Given the description of an element on the screen output the (x, y) to click on. 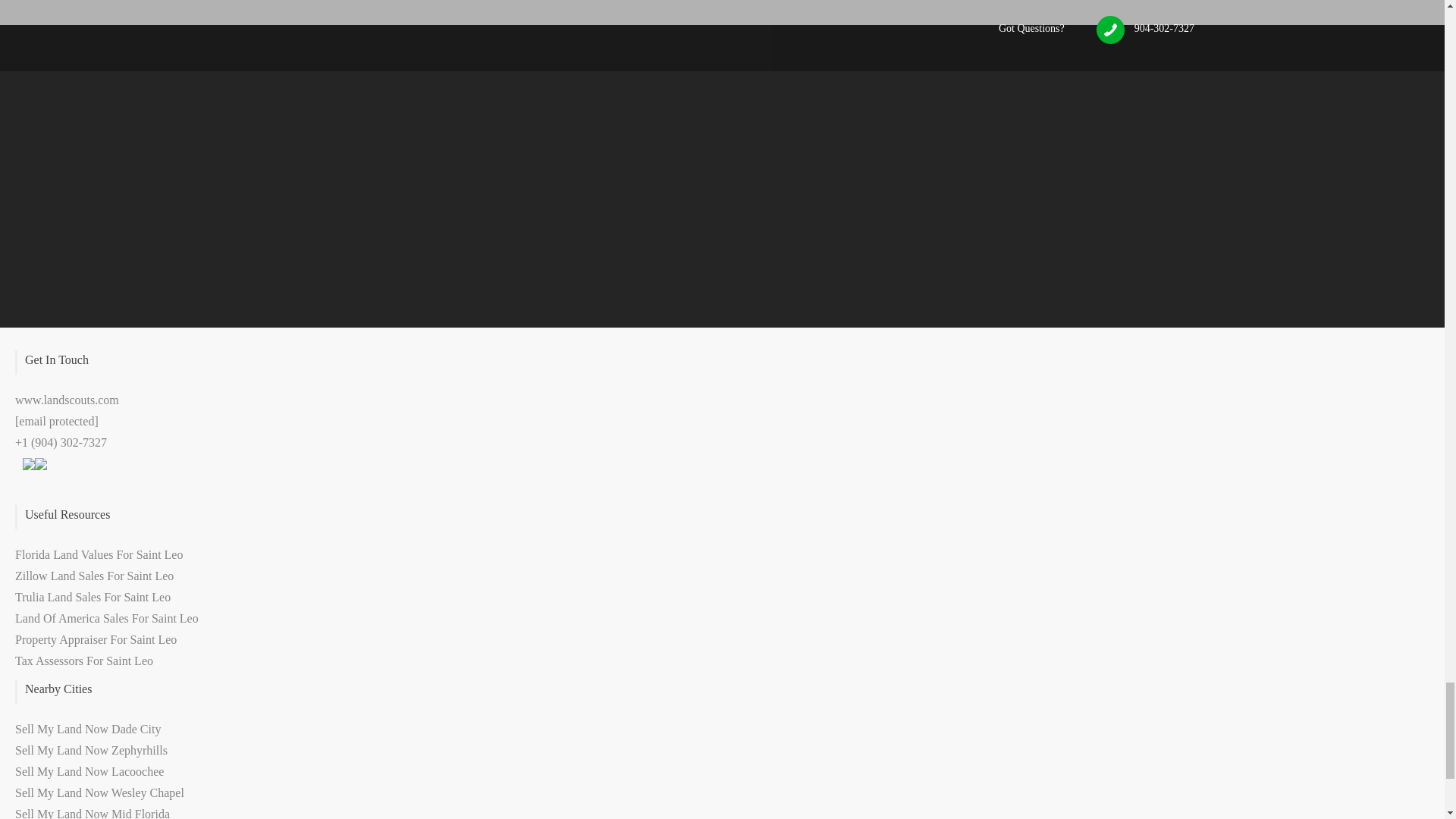
Tax Assessors For Saint Leo (83, 660)
Sell My Land Now Lacoochee (88, 771)
Zillow Land Sales For Saint Leo (93, 575)
Florida Land Values For Saint Leo (98, 554)
Land Of America Sales For Saint Leo (106, 617)
Sell My Land Now Zephyrhills (90, 749)
Sell My Land Now Mid Florida (92, 813)
www.landscouts.com (66, 399)
Property Appraiser For Saint Leo (95, 639)
Sell My Land Now Wesley Chapel (99, 792)
